Given the description of an element on the screen output the (x, y) to click on. 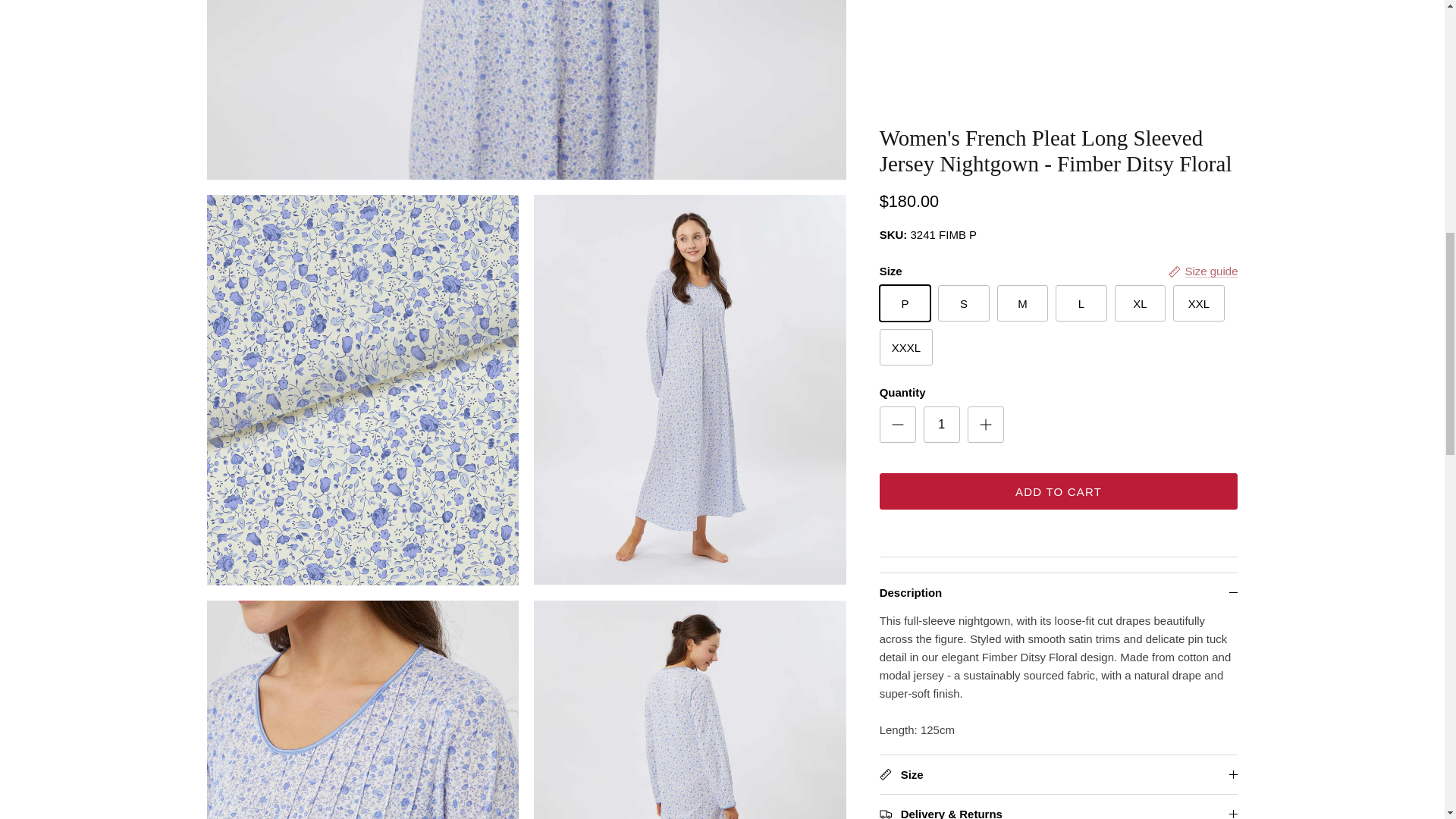
Pin on Pinterest (954, 119)
Tweet on X (917, 119)
Share on Facebook (936, 119)
